Given the description of an element on the screen output the (x, y) to click on. 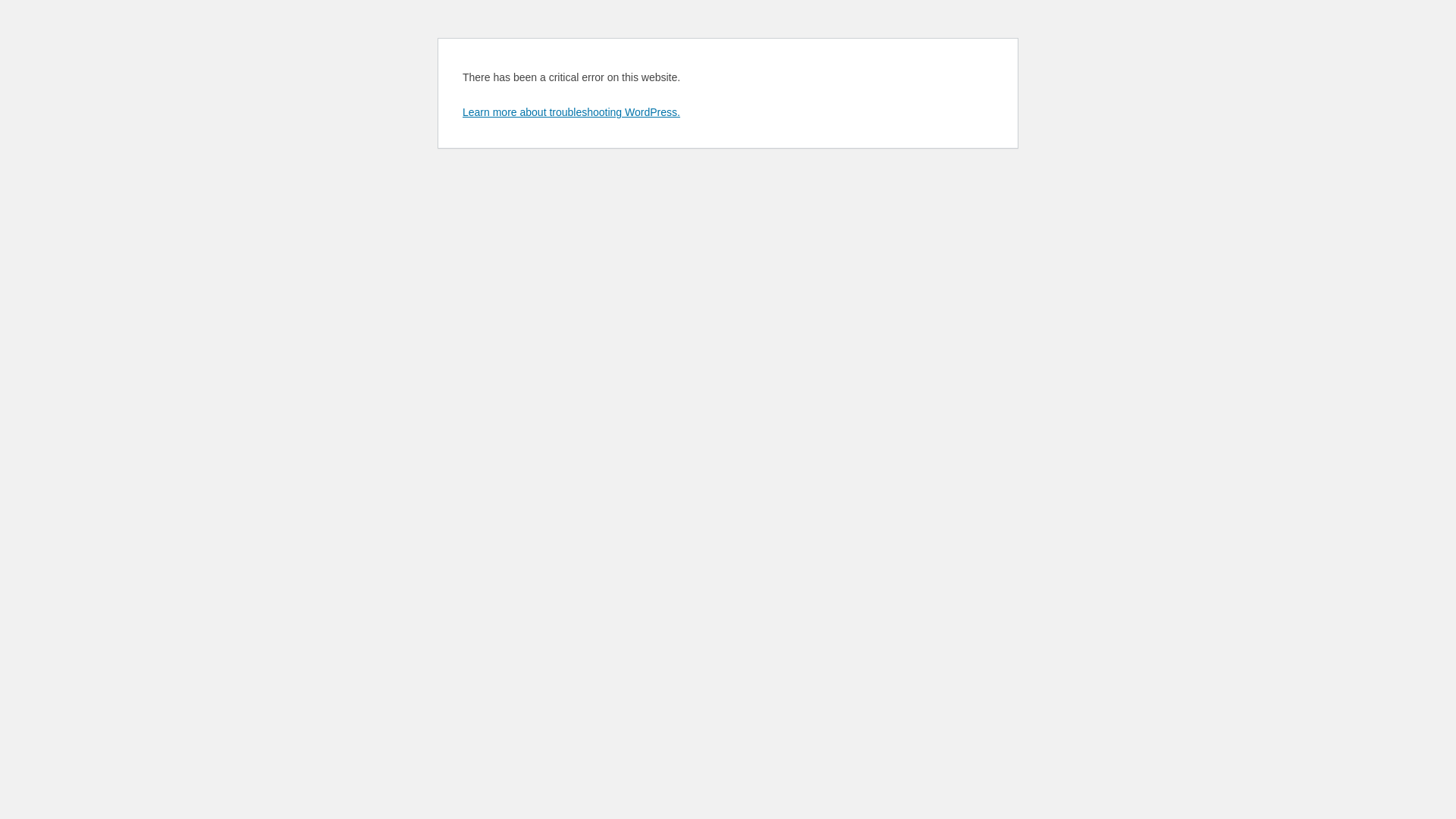
Learn more about troubleshooting WordPress. Element type: text (571, 112)
